Given the description of an element on the screen output the (x, y) to click on. 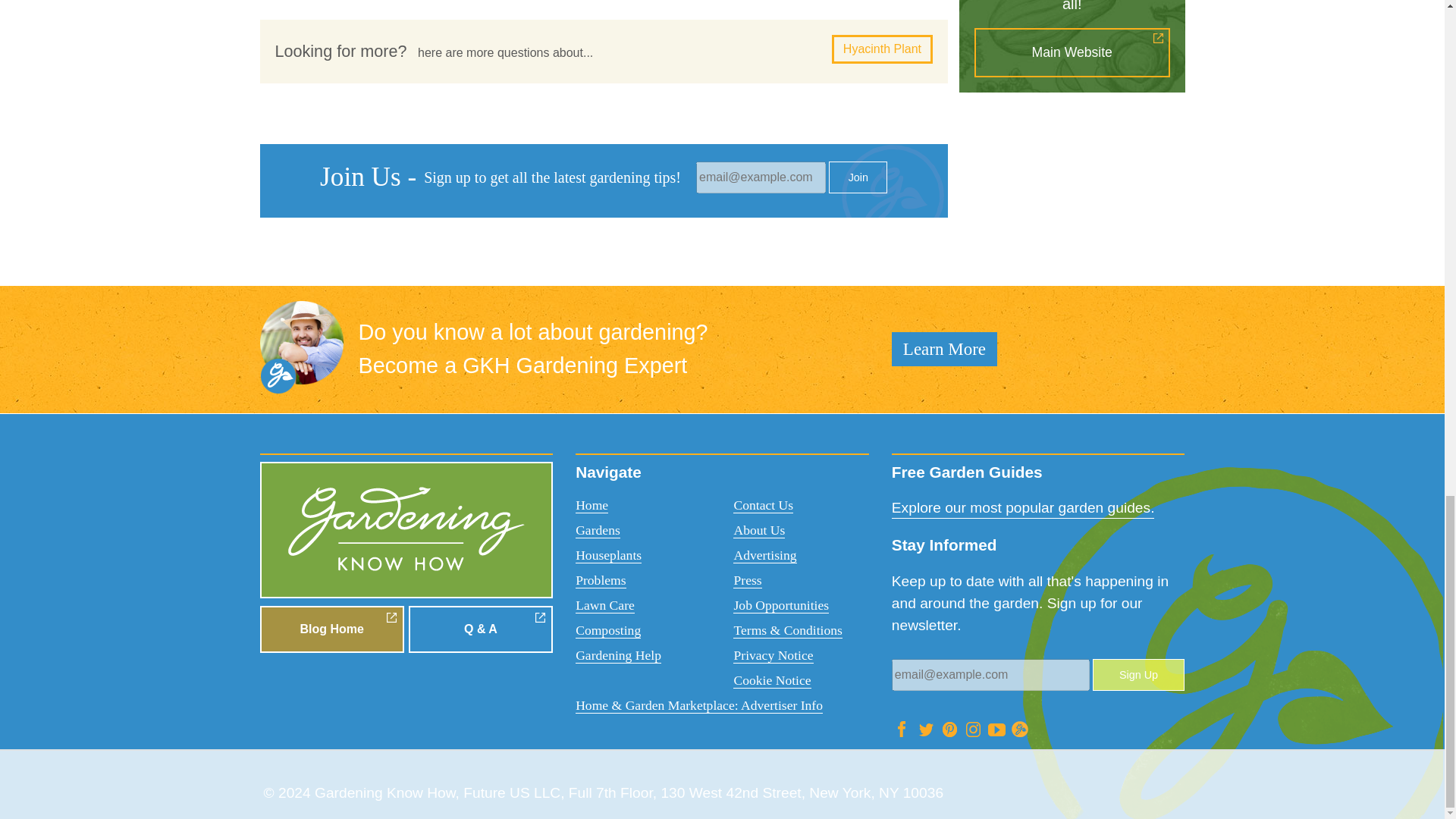
Join (857, 177)
Hyacinth Plant (882, 49)
